Given the description of an element on the screen output the (x, y) to click on. 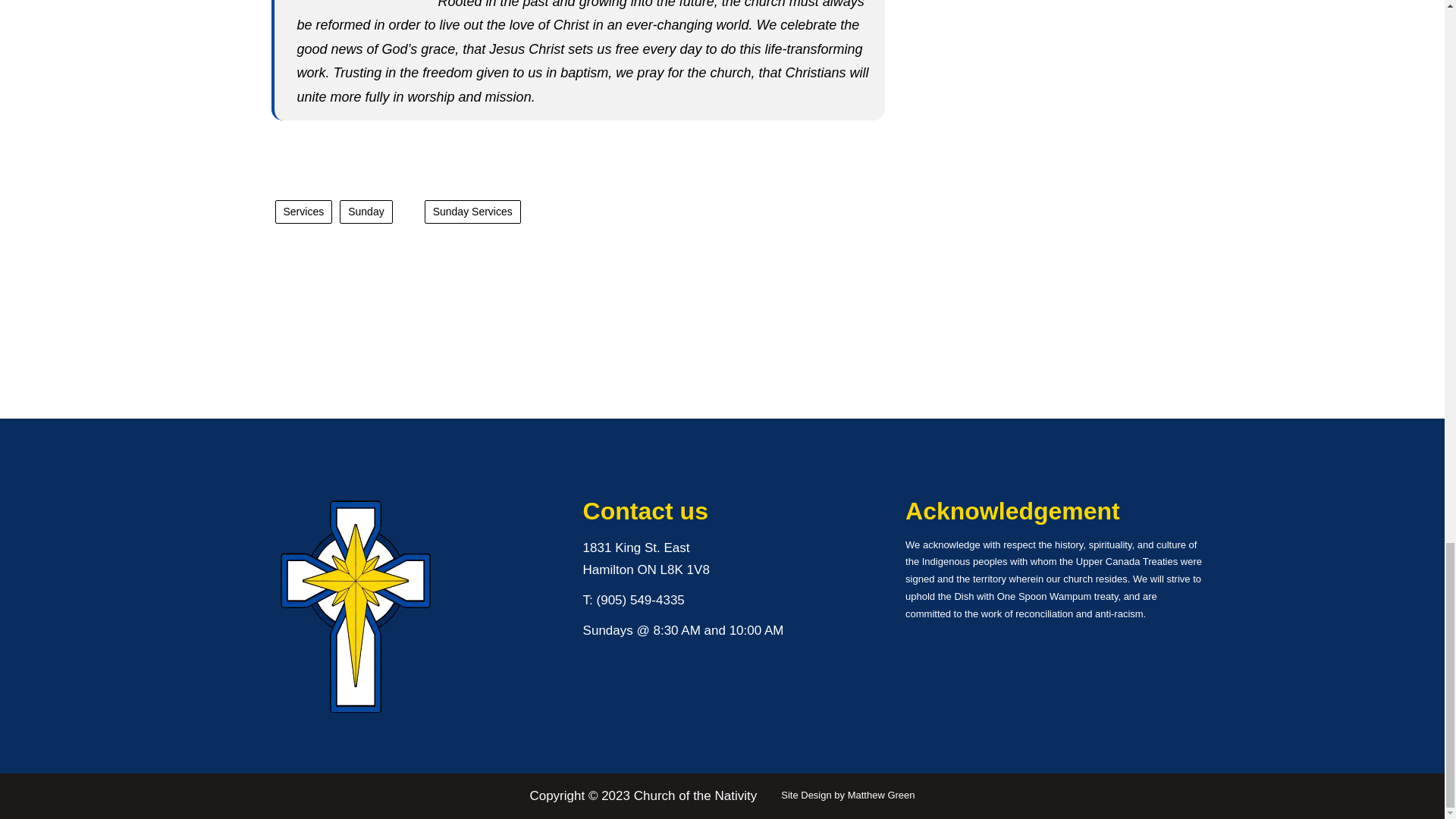
Sunday Services (473, 211)
Sunday (365, 211)
Services (303, 211)
